Given the description of an element on the screen output the (x, y) to click on. 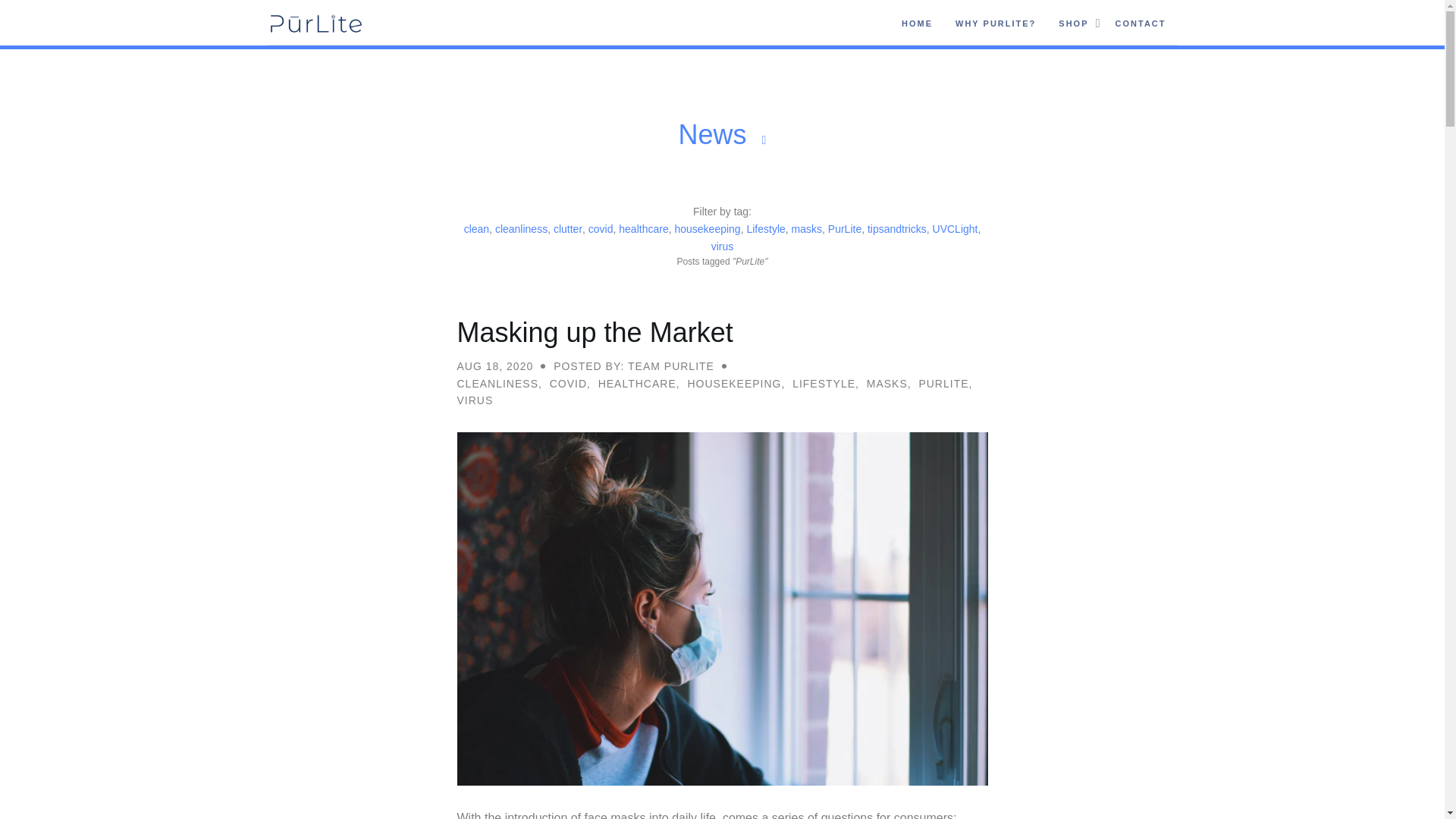
Show articles tagged virus (722, 245)
LIFESTYLE (824, 383)
Show articles tagged PurLite (846, 228)
Show articles tagged housekeeping (708, 228)
Show articles tagged UVCLight (957, 228)
HOUSEKEEPING (733, 383)
SHOP (1072, 23)
HEALTHCARE (637, 383)
Show articles tagged tipsandtricks (898, 228)
HOME (917, 23)
covid (601, 228)
housekeeping (708, 228)
Show articles tagged covid (601, 228)
masks (808, 228)
Show articles tagged cleanliness (522, 228)
